Given the description of an element on the screen output the (x, y) to click on. 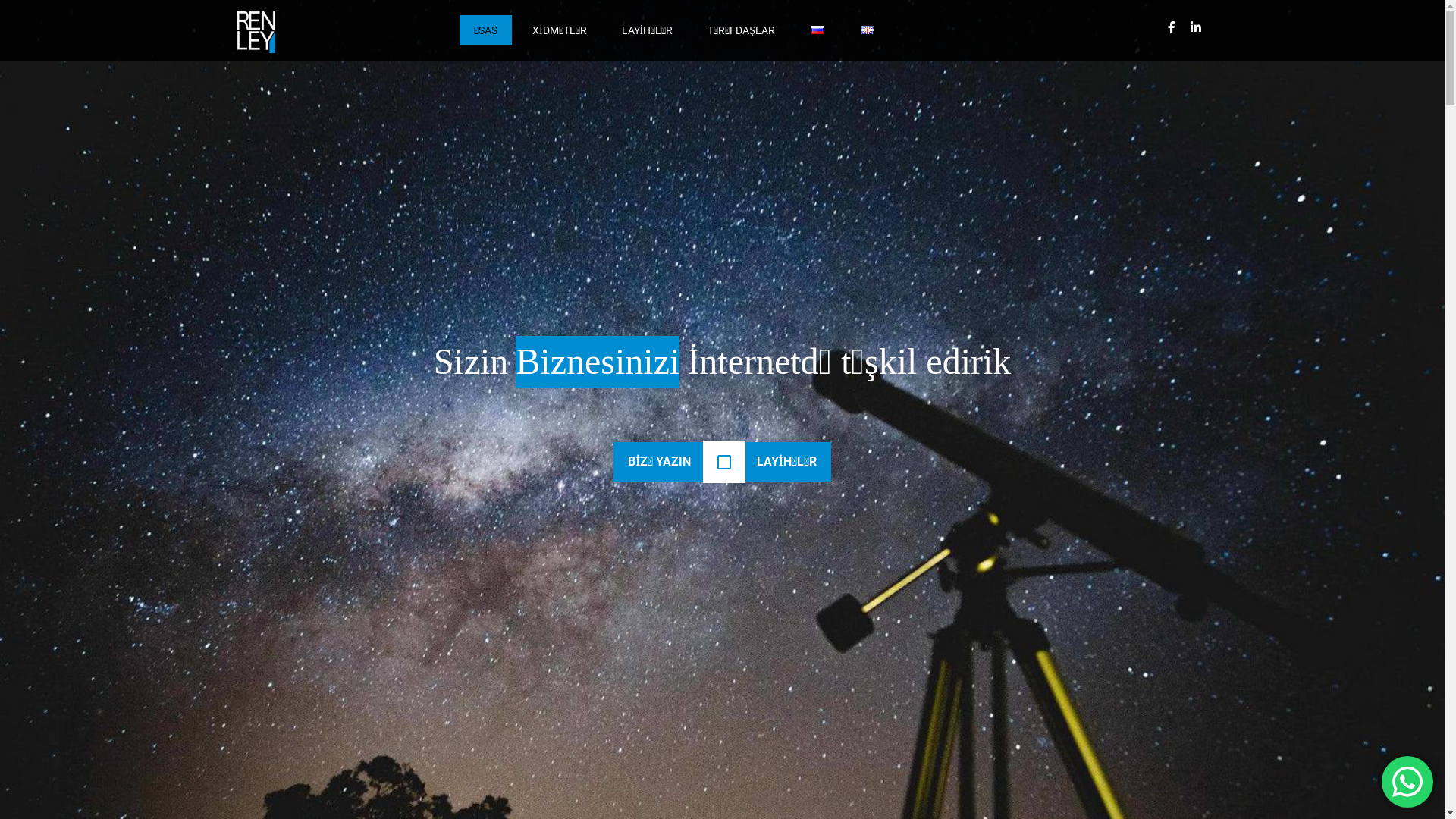
Linkedin Element type: hover (1195, 27)
WhatsApp us Element type: hover (1407, 781)
Facebook Element type: hover (1170, 27)
